Given the description of an element on the screen output the (x, y) to click on. 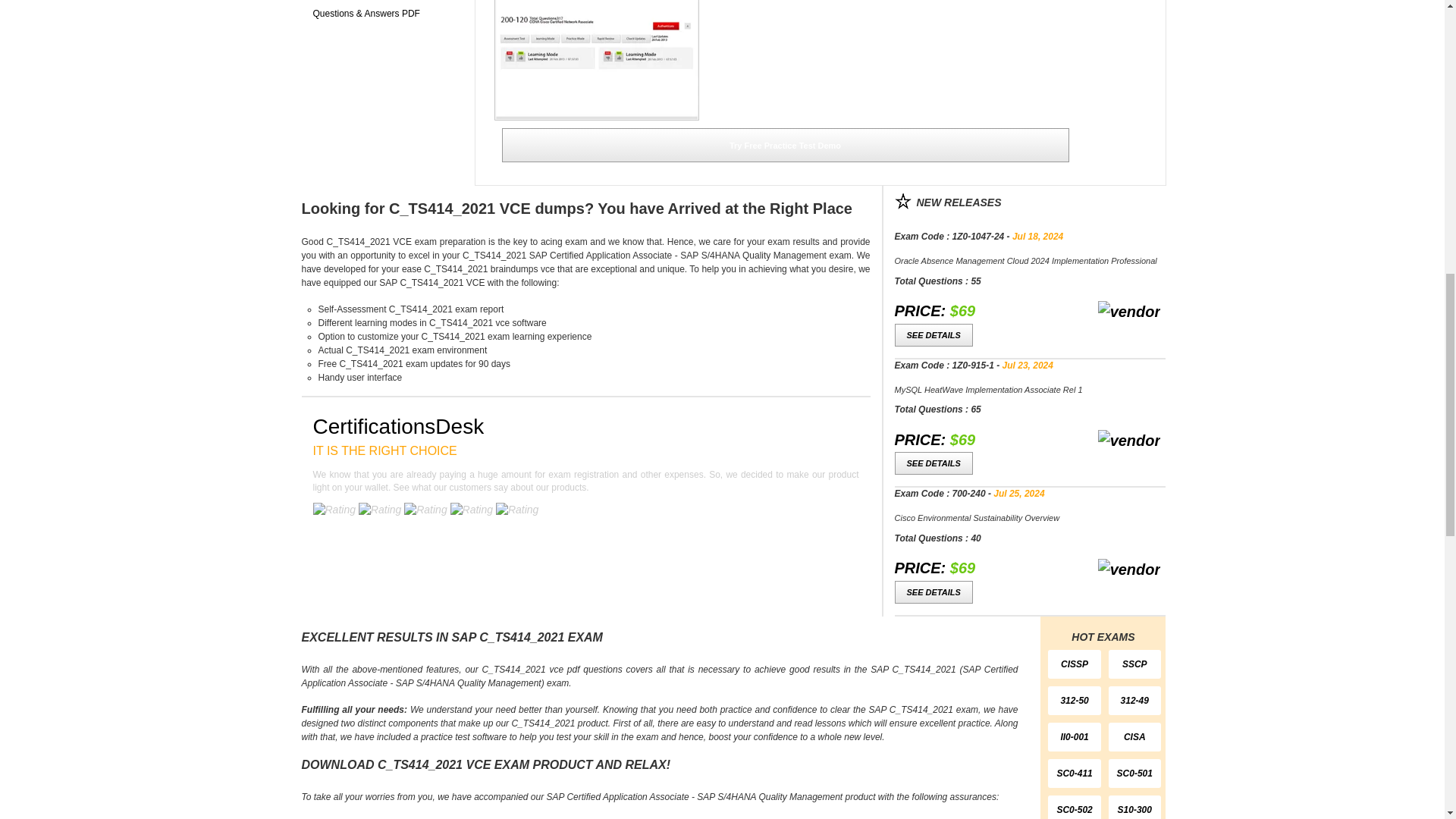
SC0-411 (1074, 773)
SEE DETAILS (933, 591)
II0-001 (1074, 736)
Try Free Practice Test Demo (785, 144)
312-49 (1134, 700)
SSCP (1134, 664)
312-50 (1074, 700)
SEE DETAILS (933, 463)
SEE DETAILS (933, 334)
CISA (1134, 736)
CISSP (1074, 664)
